Given the description of an element on the screen output the (x, y) to click on. 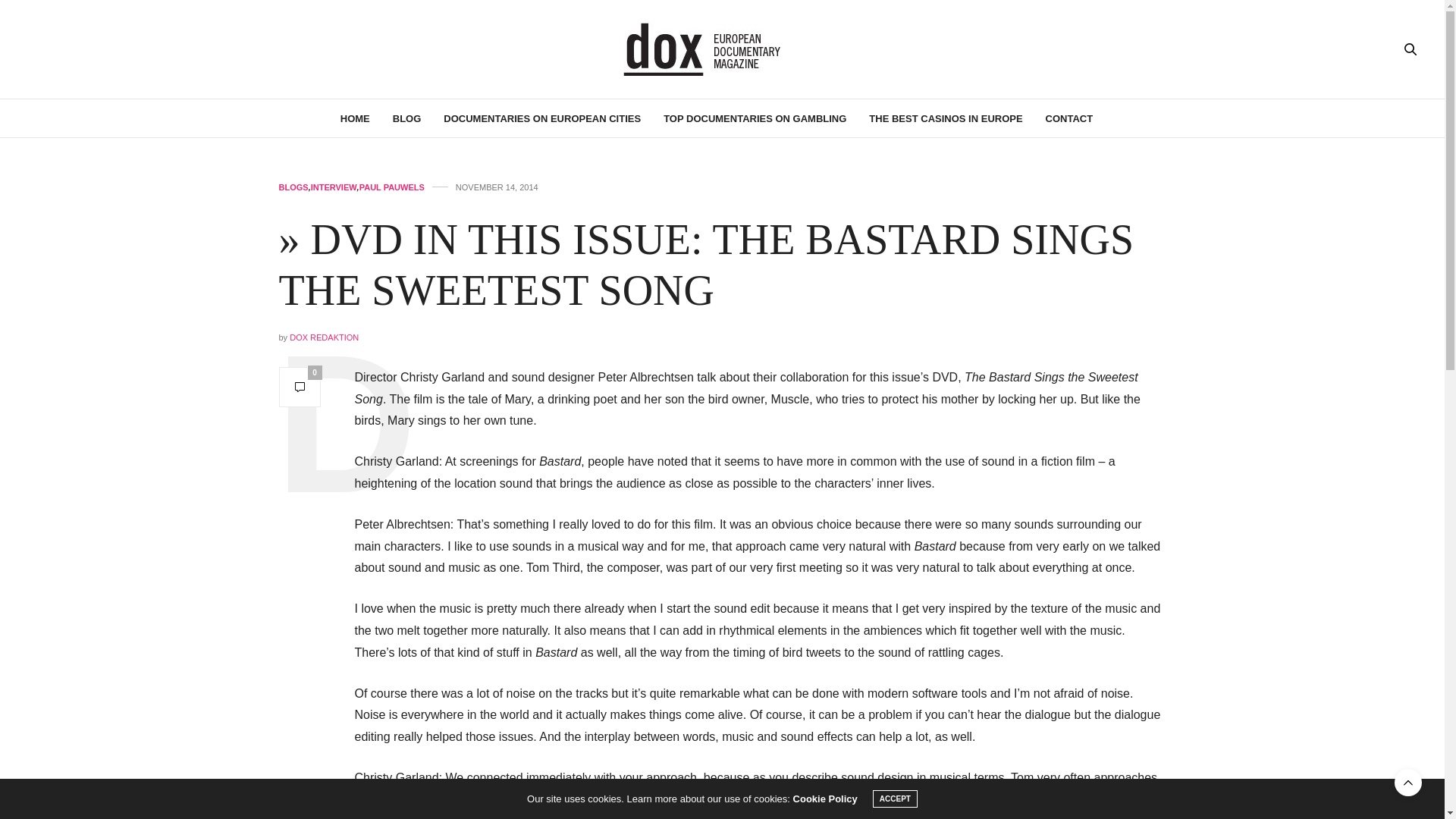
CONTACT (1069, 118)
Posts by Dox Redaktion (323, 337)
TOP DOCUMENTARIES ON GAMBLING (754, 118)
THE BEST CASINOS IN EUROPE (945, 118)
0 (299, 386)
INTERVIEW (333, 187)
DOX REDAKTION (323, 337)
BLOGS (293, 187)
PAUL PAUWELS (392, 187)
Cookie Policy (825, 798)
Scroll To Top (1408, 782)
Dox Documentary Magazine about the Best Casinos in Europe (722, 49)
ACCEPT (894, 798)
DOCUMENTARIES ON EUROPEAN CITIES (542, 118)
